Given the description of an element on the screen output the (x, y) to click on. 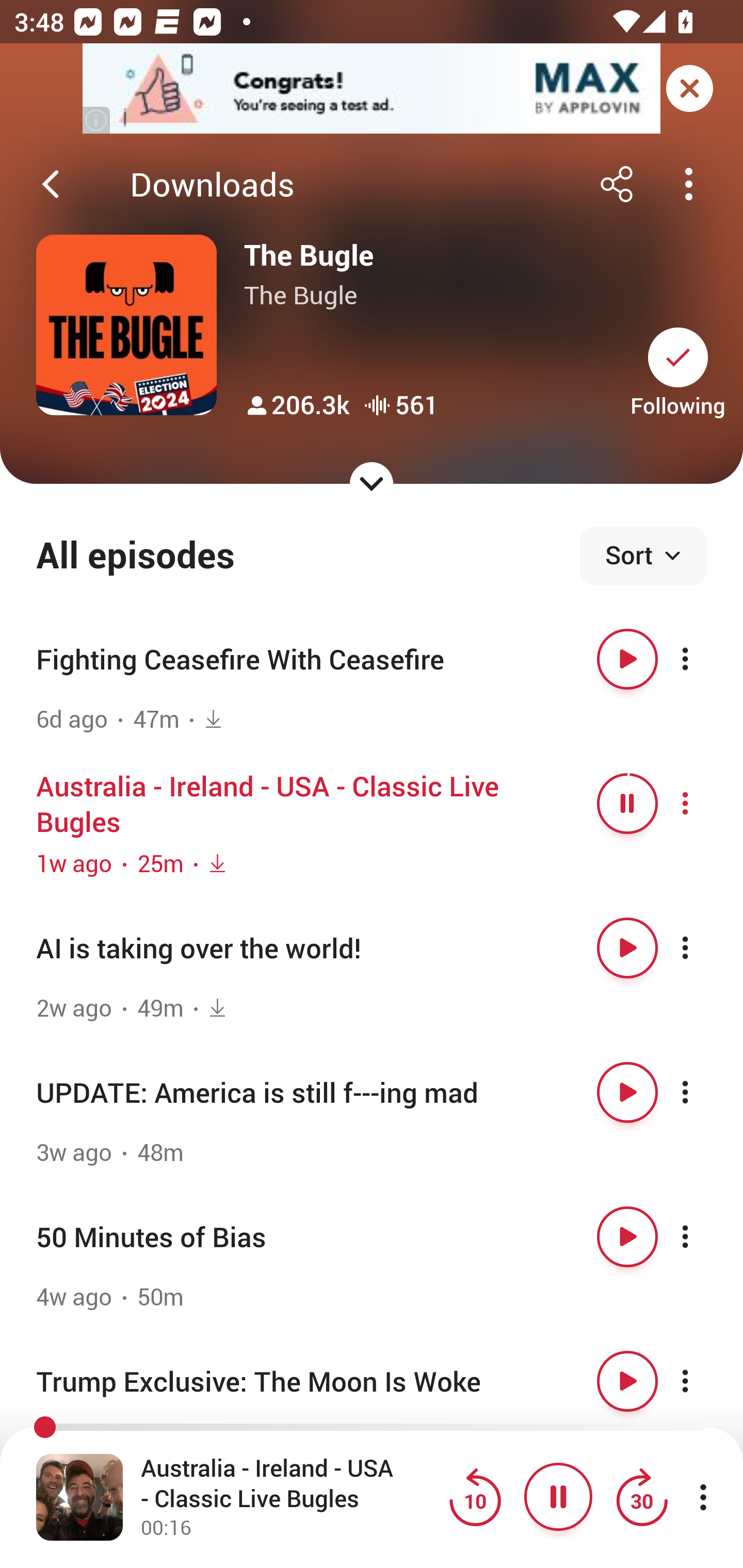
app-monetization (371, 88)
(i) (96, 119)
Back (50, 184)
Unsubscribe button (677, 357)
Sort episodes Sort (643, 555)
Play button (627, 659)
More options (703, 659)
Pause button (627, 803)
More options (703, 803)
Play button (627, 947)
More options (703, 947)
Play button (627, 1092)
More options (703, 1092)
Play button (627, 1236)
More options (703, 1236)
Play button (627, 1381)
More options (703, 1381)
Open fullscreen player (79, 1497)
More player controls (703, 1497)
Australia - Ireland - USA - Classic Live Bugles (290, 1484)
Pause button (558, 1496)
Jump back (475, 1497)
Jump forward (641, 1497)
